Given the description of an element on the screen output the (x, y) to click on. 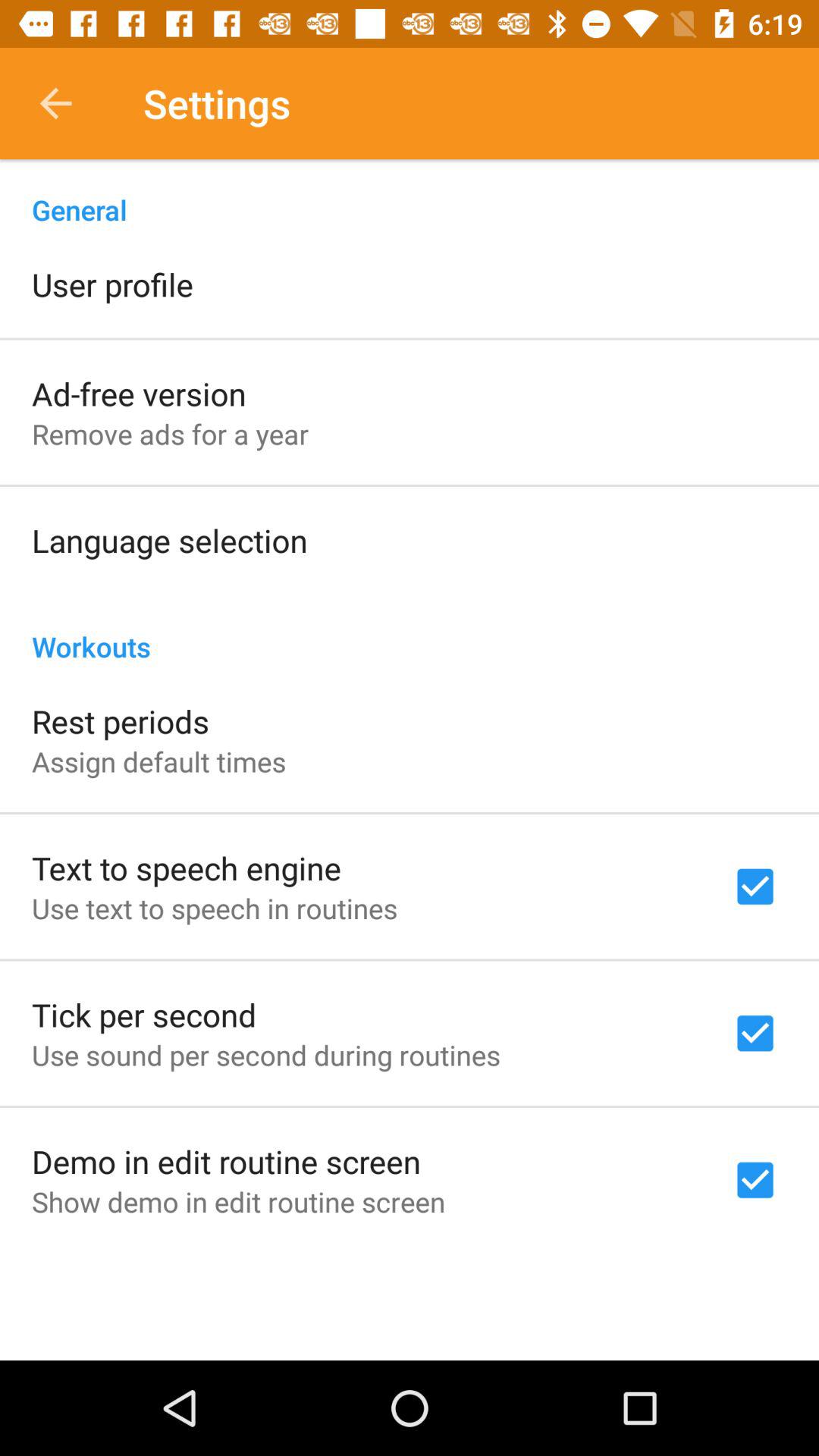
click the language selection (169, 539)
